Given the description of an element on the screen output the (x, y) to click on. 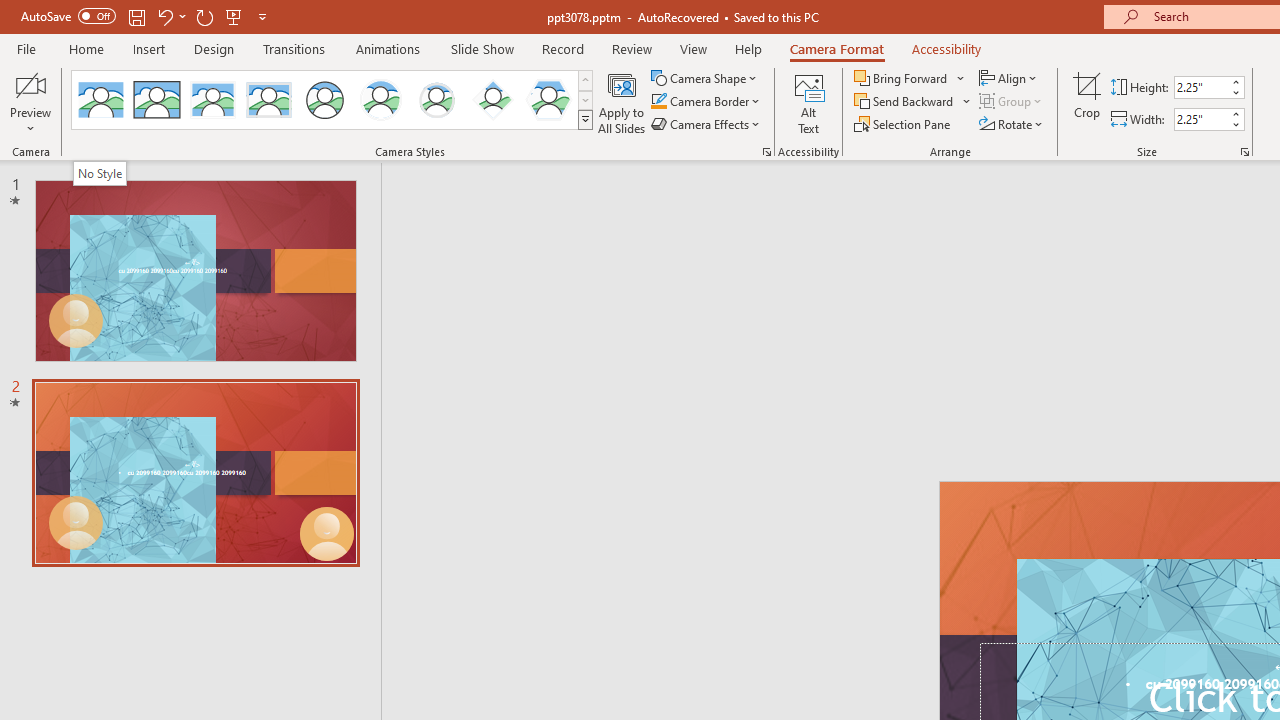
Center Shadow Circle (381, 100)
Send Backward (913, 101)
File Tab (26, 48)
Quick Access Toolbar (145, 16)
Size and Position... (1244, 151)
Camera Styles (585, 120)
Redo (204, 15)
Customize Quick Access Toolbar (262, 15)
Preview (30, 102)
No Style (100, 100)
Camera Border Green, Accent 1 (658, 101)
Class: NetUIImage (586, 119)
More (1235, 113)
Row Down (585, 100)
Format Object... (766, 151)
